Given the description of an element on the screen output the (x, y) to click on. 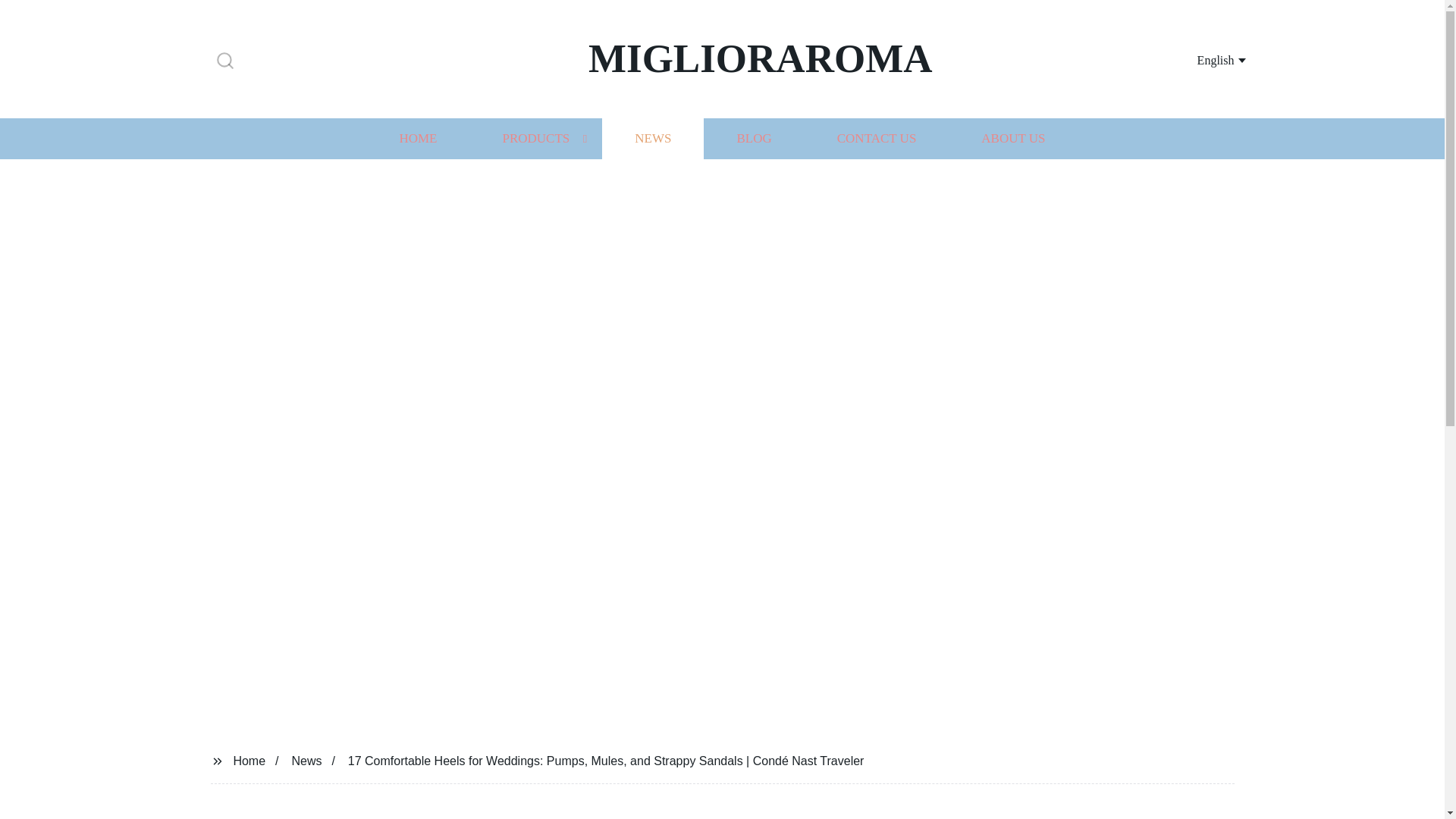
BLOG (753, 137)
CONTACT US (877, 137)
News (306, 759)
ABOUT US (1013, 137)
HOME (417, 137)
English (1203, 59)
PRODUCTS (535, 137)
English (1203, 59)
NEWS (652, 137)
Home (248, 759)
